Given the description of an element on the screen output the (x, y) to click on. 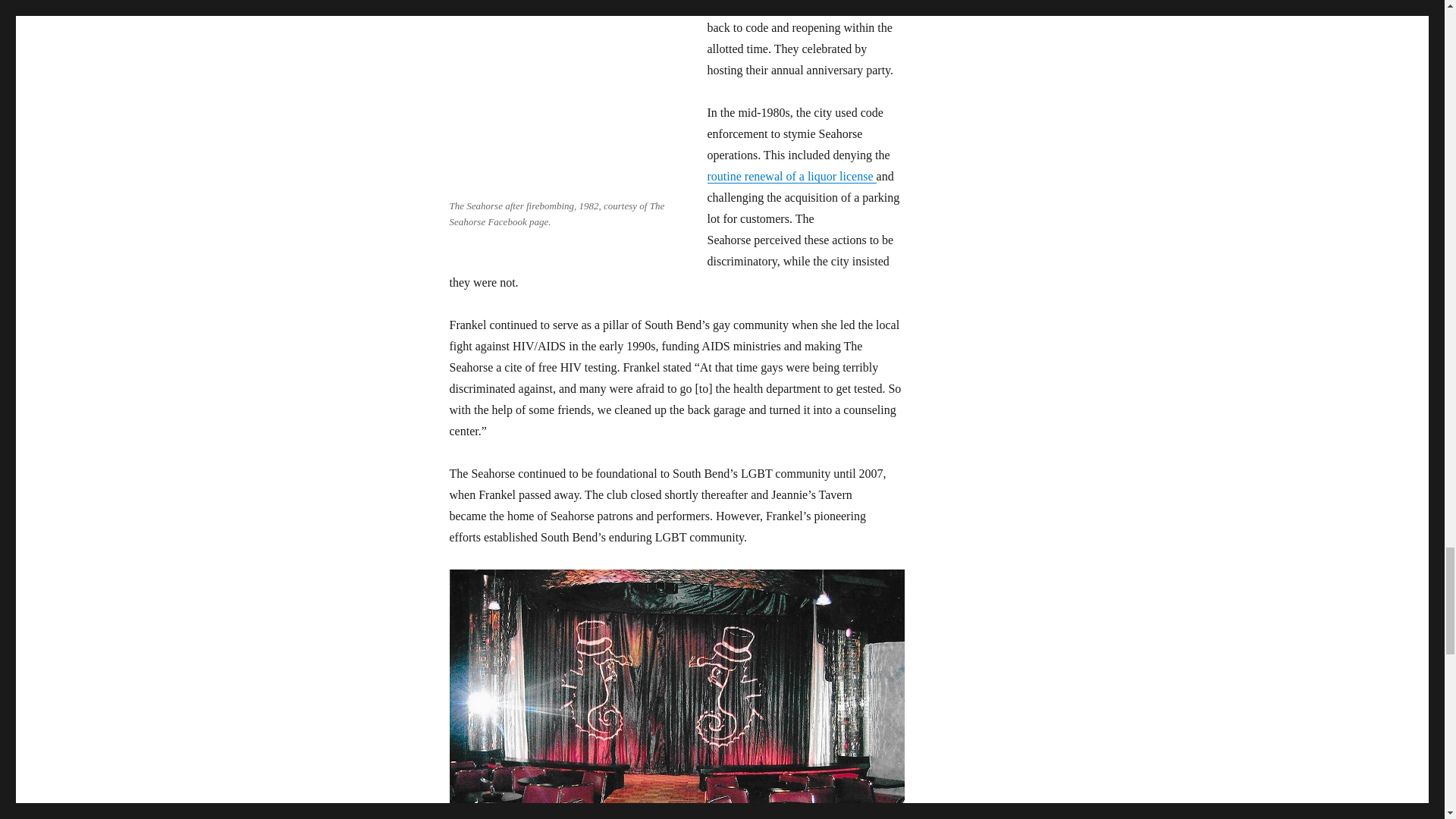
routine renewal of a liquor license (791, 175)
